Given the description of an element on the screen output the (x, y) to click on. 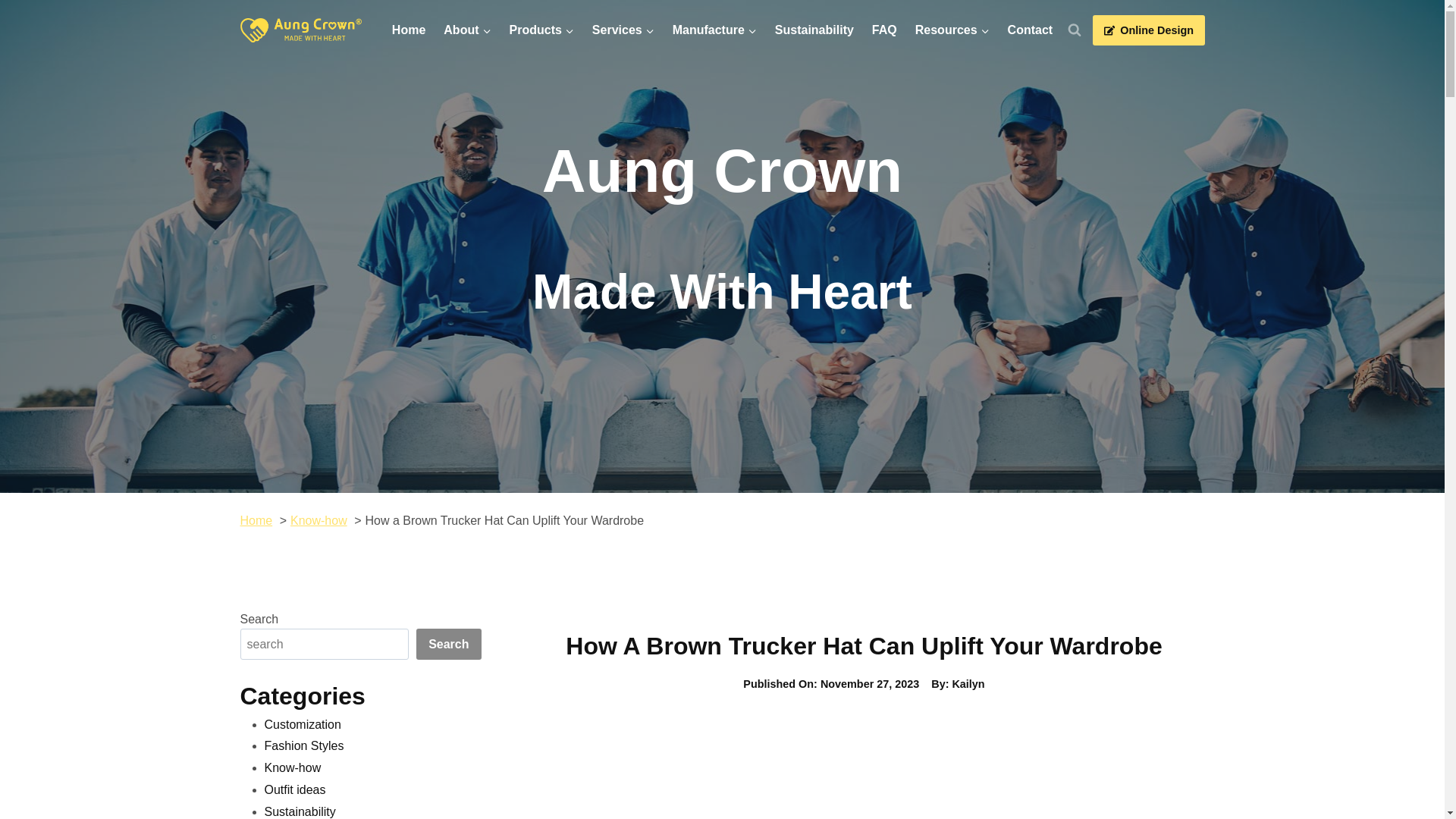
About (466, 30)
Services (623, 30)
Products (541, 30)
